Given the description of an element on the screen output the (x, y) to click on. 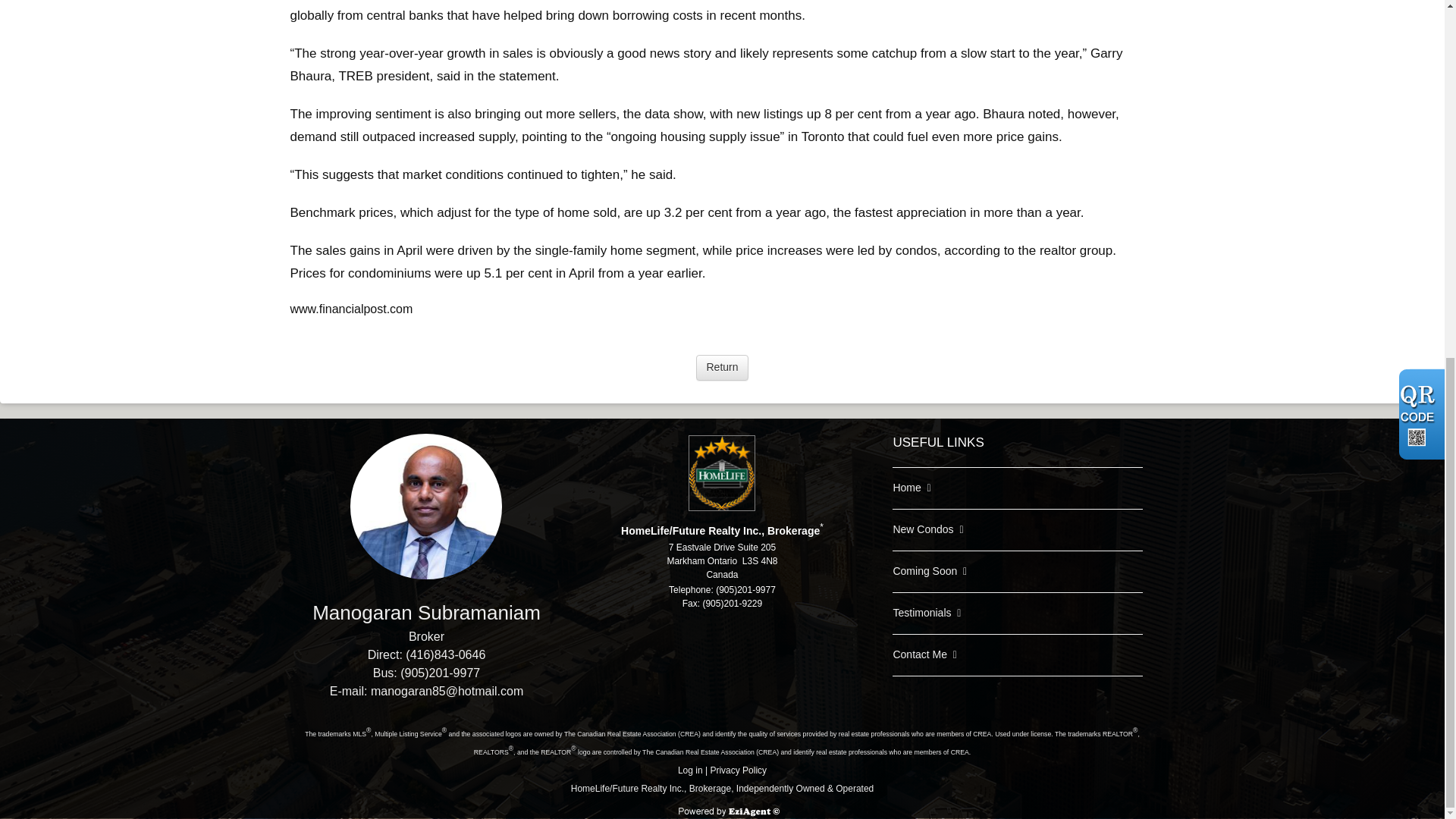
Contact Me (919, 654)
Home (906, 487)
Testimonials (921, 612)
Return (721, 367)
Log in (690, 769)
New Condos (922, 529)
Coming Soon (924, 571)
Privacy Policy (738, 769)
